Given the description of an element on the screen output the (x, y) to click on. 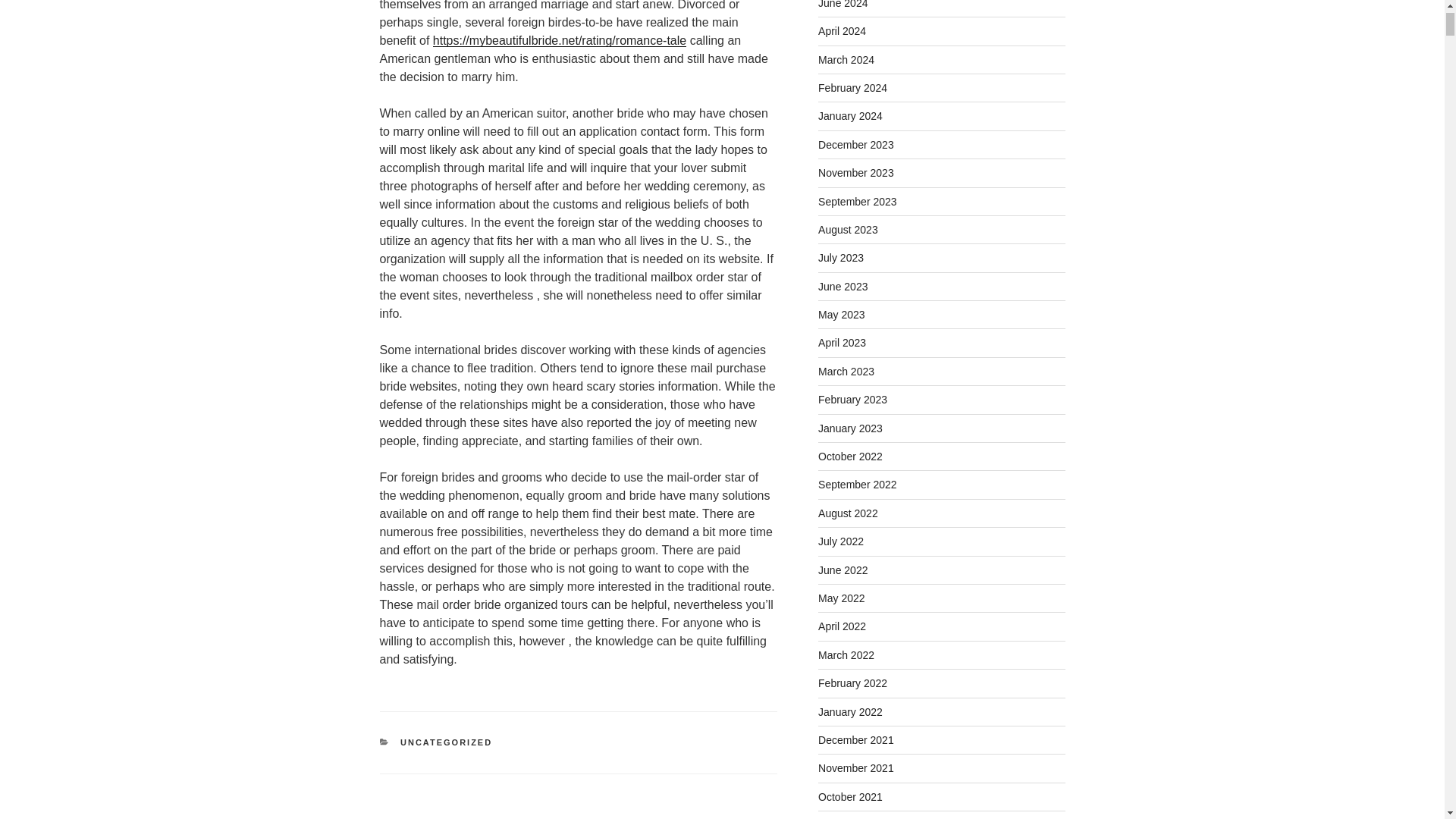
January 2024 (850, 115)
May 2023 (841, 314)
August 2023 (847, 229)
March 2023 (846, 371)
April 2024 (842, 30)
March 2024 (846, 60)
UNCATEGORIZED (446, 741)
September 2023 (857, 201)
April 2023 (842, 342)
September 2022 (857, 484)
